Given the description of an element on the screen output the (x, y) to click on. 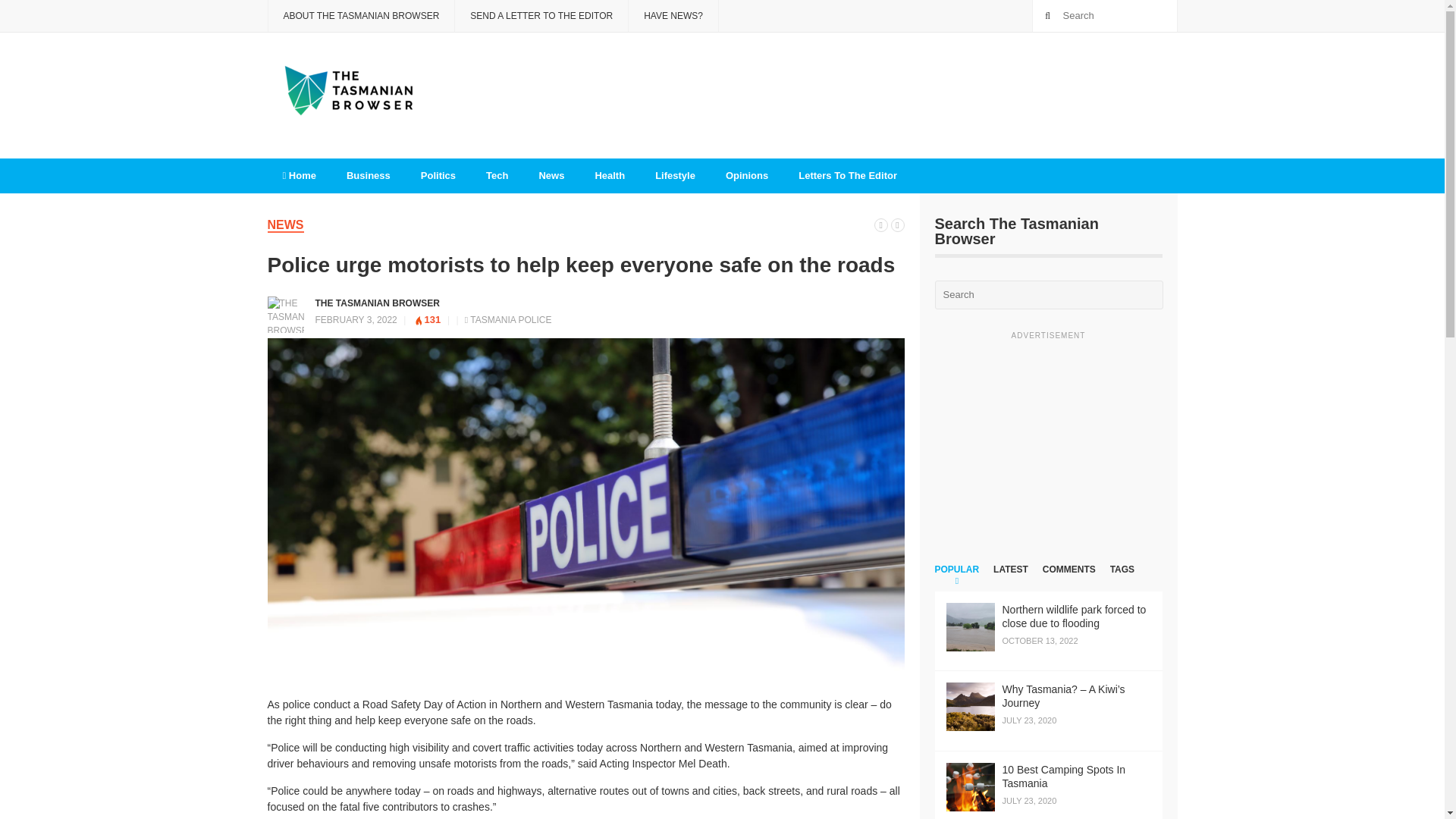
Latest (1009, 577)
ABOUT THE TASMANIAN BROWSER (360, 15)
SEND A LETTER TO THE EDITOR (541, 15)
Business (368, 175)
Lifestyle (675, 175)
Popular (956, 577)
TASMANIA POLICE (510, 318)
NEWS (284, 225)
Opinions (746, 175)
Politics (438, 175)
